Given the description of an element on the screen output the (x, y) to click on. 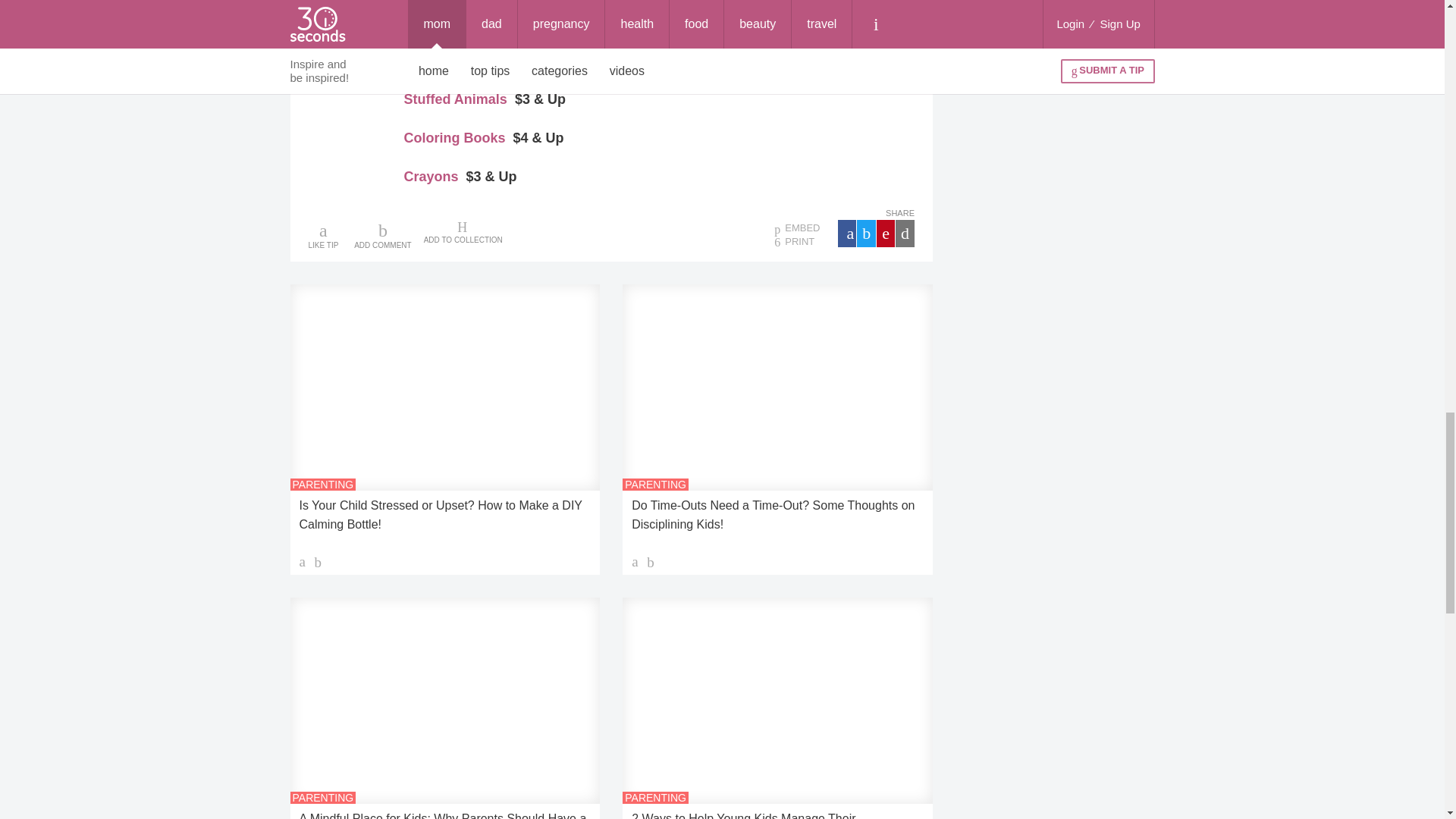
ADD COMMENT (382, 234)
